Given the description of an element on the screen output the (x, y) to click on. 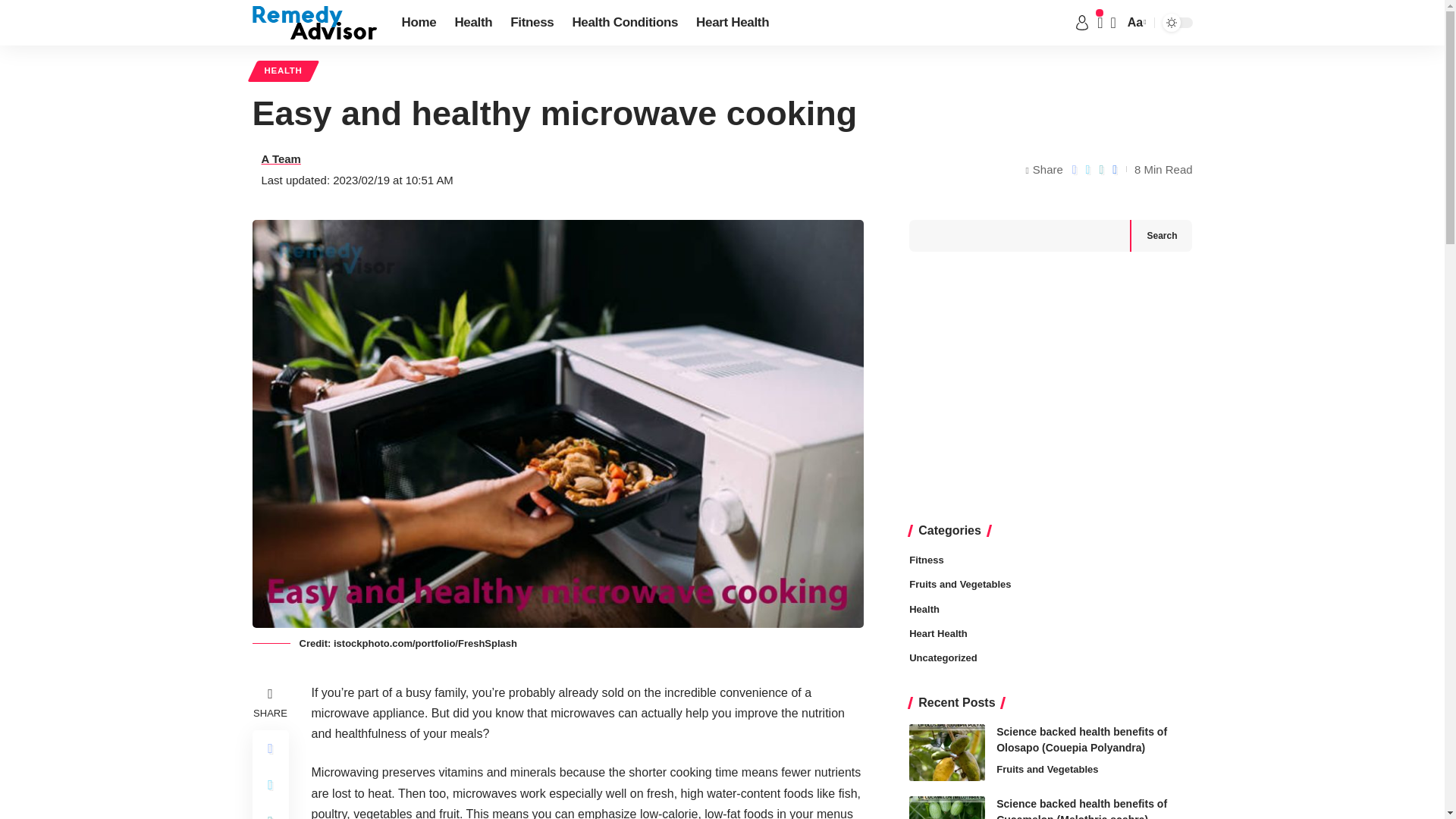
Aa (1135, 22)
Heart Health (732, 22)
Health Conditions (624, 22)
Advertisement (1050, 387)
Health (472, 22)
Remedy Advisor (314, 22)
Fitness (531, 22)
Home (419, 22)
